Given the description of an element on the screen output the (x, y) to click on. 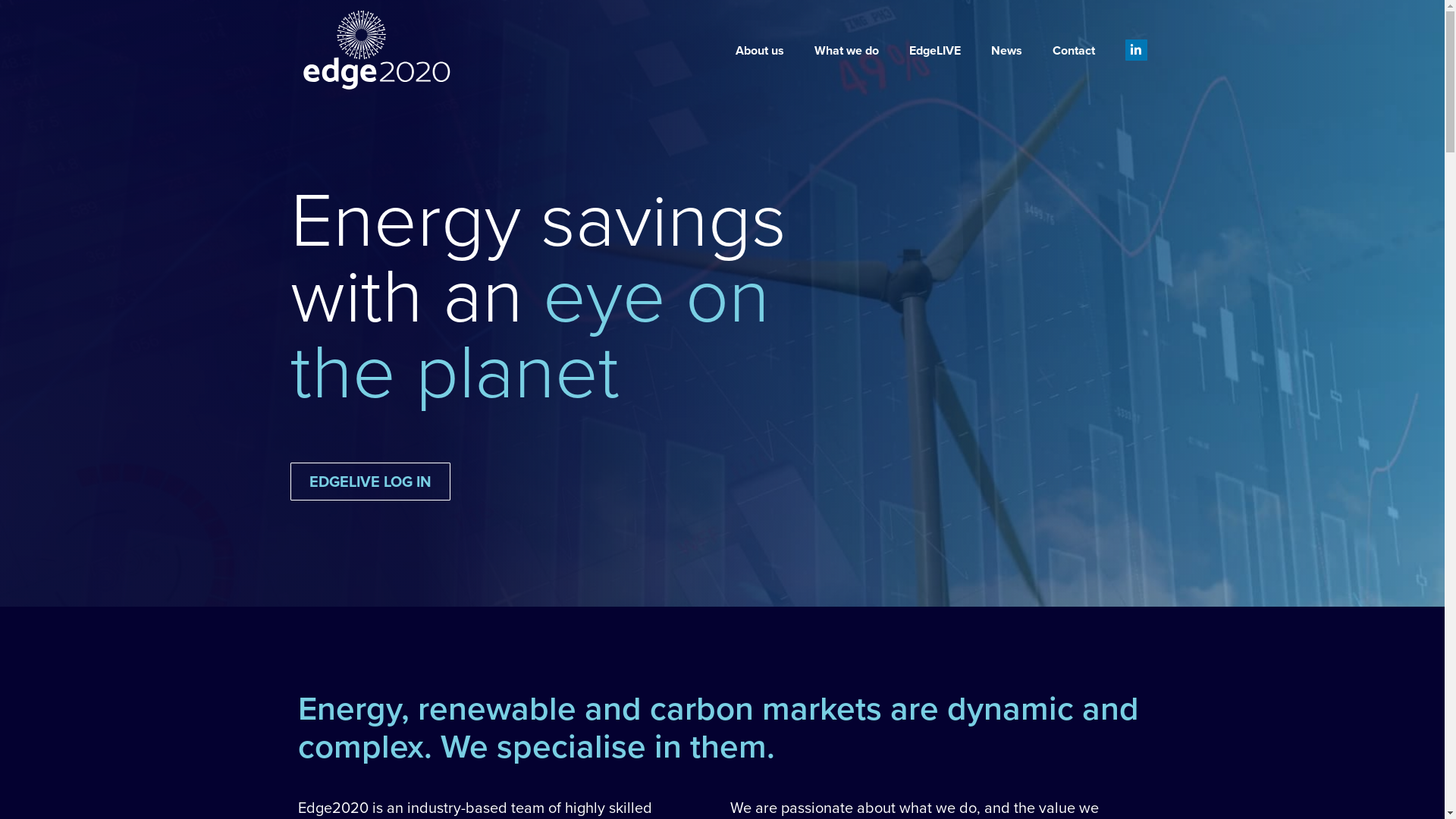
Contact Element type: text (1073, 50)
EdgeLIVE Element type: text (934, 50)
What we do Element type: text (846, 50)
EDGELIVE LOG IN Element type: text (369, 481)
About us Element type: text (759, 50)
News Element type: text (1006, 50)
